Given the description of an element on the screen output the (x, y) to click on. 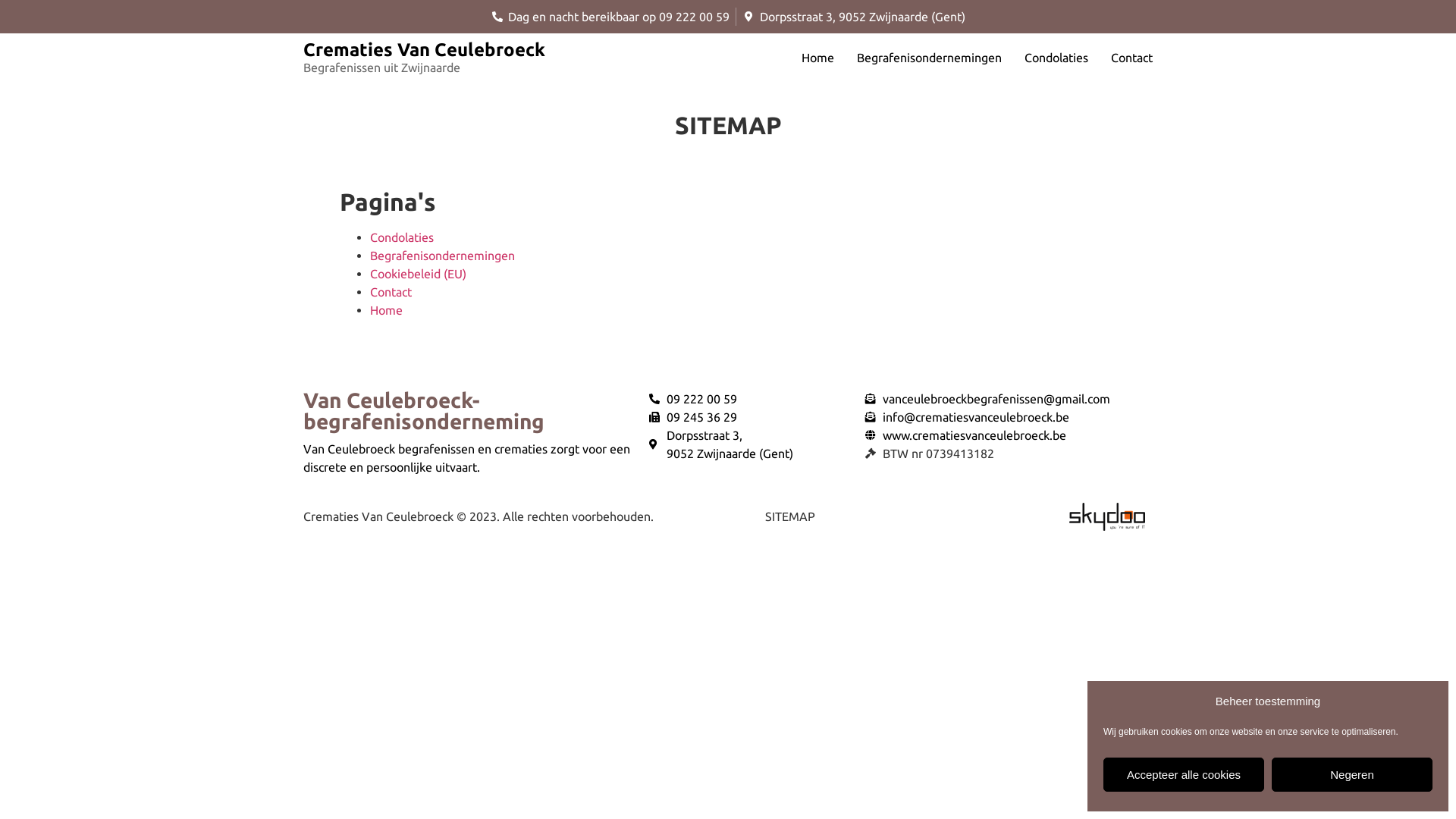
Dag en nacht bereikbaar op 09 222 00 59 Element type: text (610, 16)
Dorpsstraat 3, 9052 Zwijnaarde (Gent) Element type: text (853, 16)
Cookiebeleid (EU) Element type: text (418, 273)
09 245 36 29 Element type: text (749, 416)
Accepteer alle cookies Element type: text (1183, 774)
Condolaties Element type: text (1056, 57)
vanceulebroeckbegrafenissen@gmail.com Element type: text (1008, 398)
Contact Element type: text (390, 291)
Condolaties Element type: text (401, 237)
Begrafenisondernemingen Element type: text (442, 255)
Negeren Element type: text (1351, 774)
09 222 00 59 Element type: text (749, 398)
www.crematiesvanceulebroeck.be Element type: text (1008, 435)
Home Element type: text (817, 57)
Contact Element type: text (1131, 57)
info@crematiesvanceulebroeck.be Element type: text (1008, 416)
Home Element type: text (386, 309)
Begrafenisondernemingen Element type: text (928, 57)
Dorpsstraat 3,
9052 Zwijnaarde (Gent) Element type: text (749, 444)
SITEMAP Element type: text (790, 516)
